Given the description of an element on the screen output the (x, y) to click on. 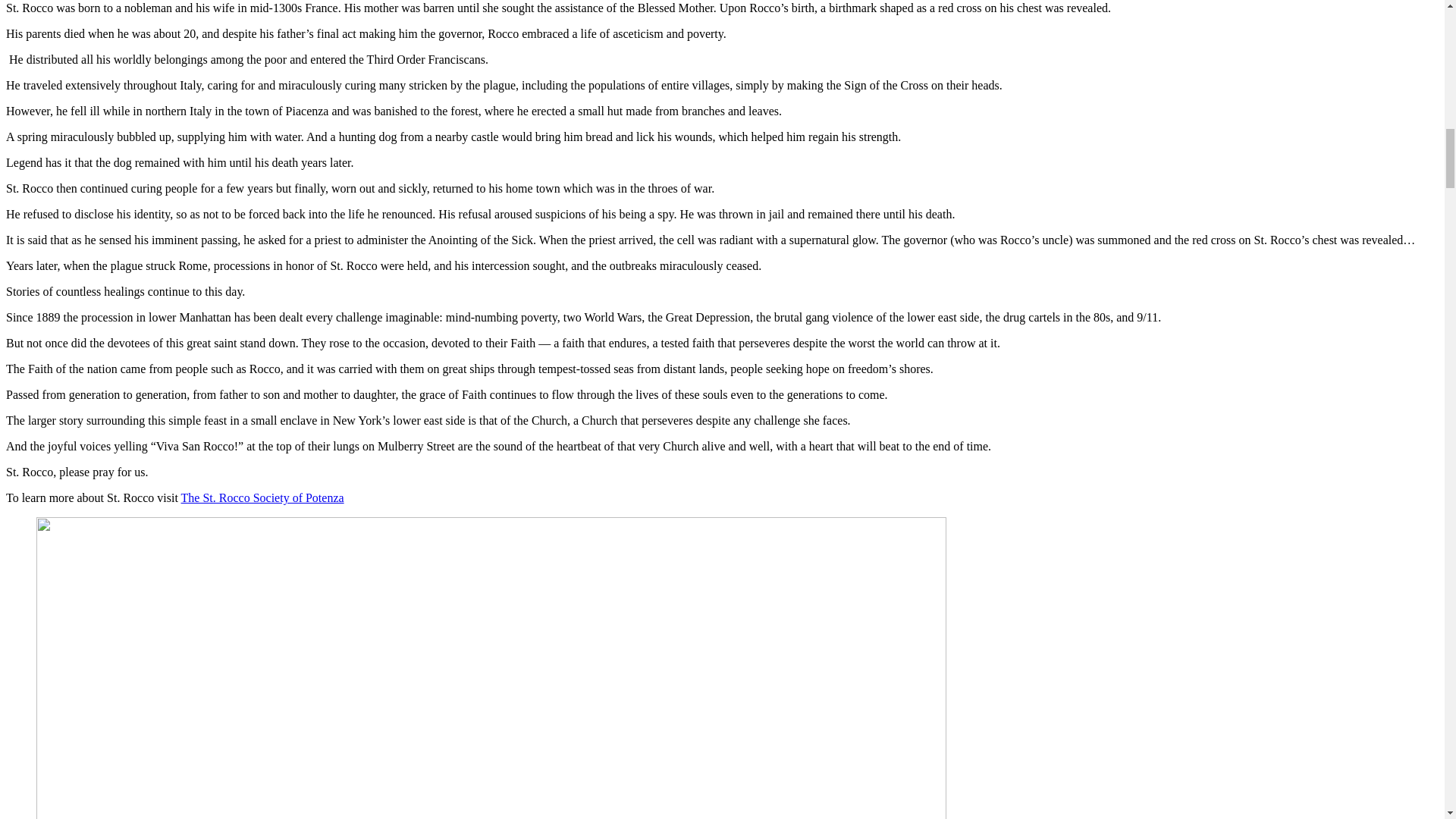
The St. Rocco Society of Potenza (261, 497)
